Given the description of an element on the screen output the (x, y) to click on. 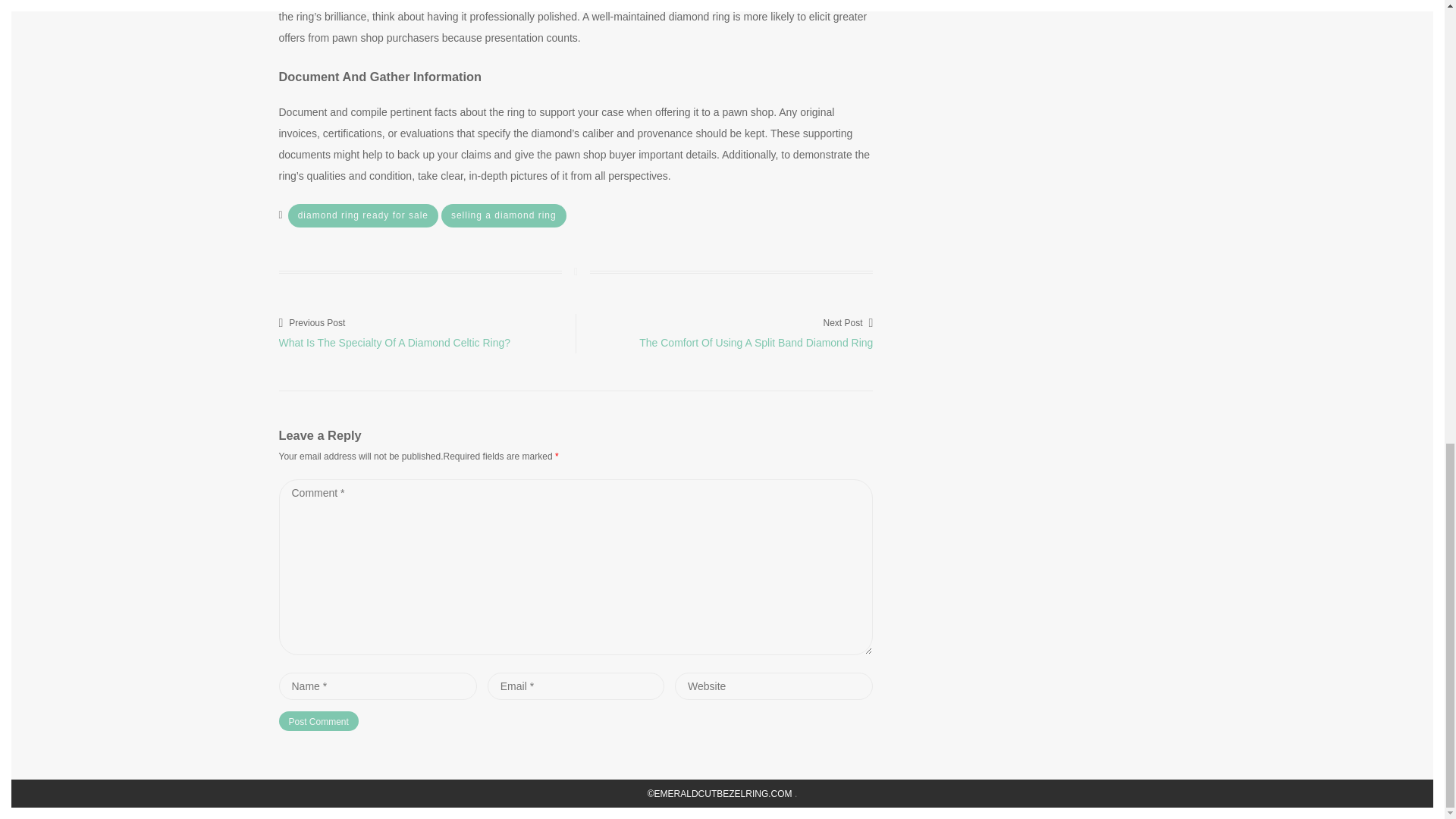
Post Comment (318, 721)
selling a diamond ring (503, 215)
diamond ring ready for sale (363, 215)
Post Comment (318, 721)
